Given the description of an element on the screen output the (x, y) to click on. 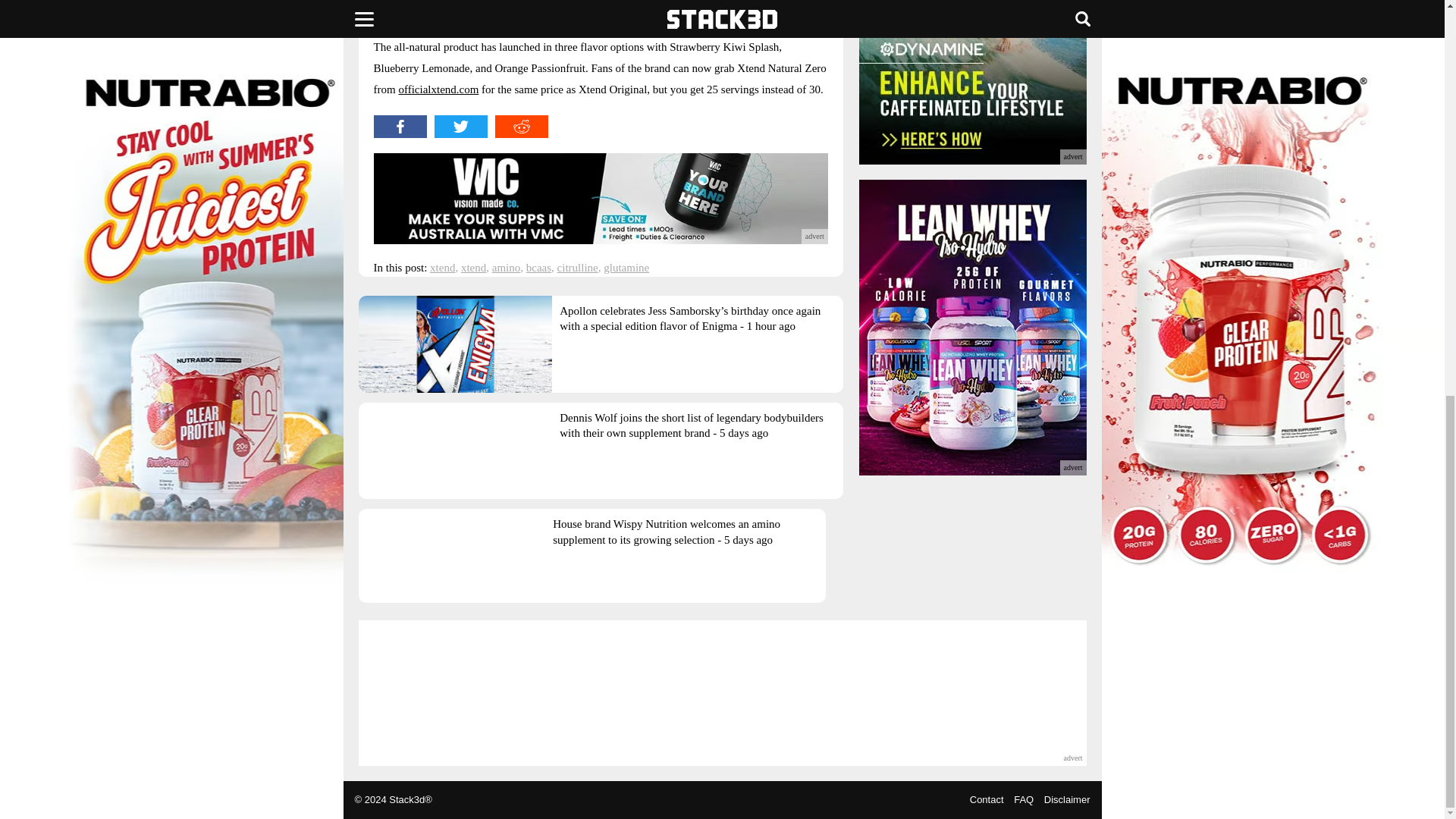
officialxtend.com (438, 89)
xtend (441, 267)
